Given the description of an element on the screen output the (x, y) to click on. 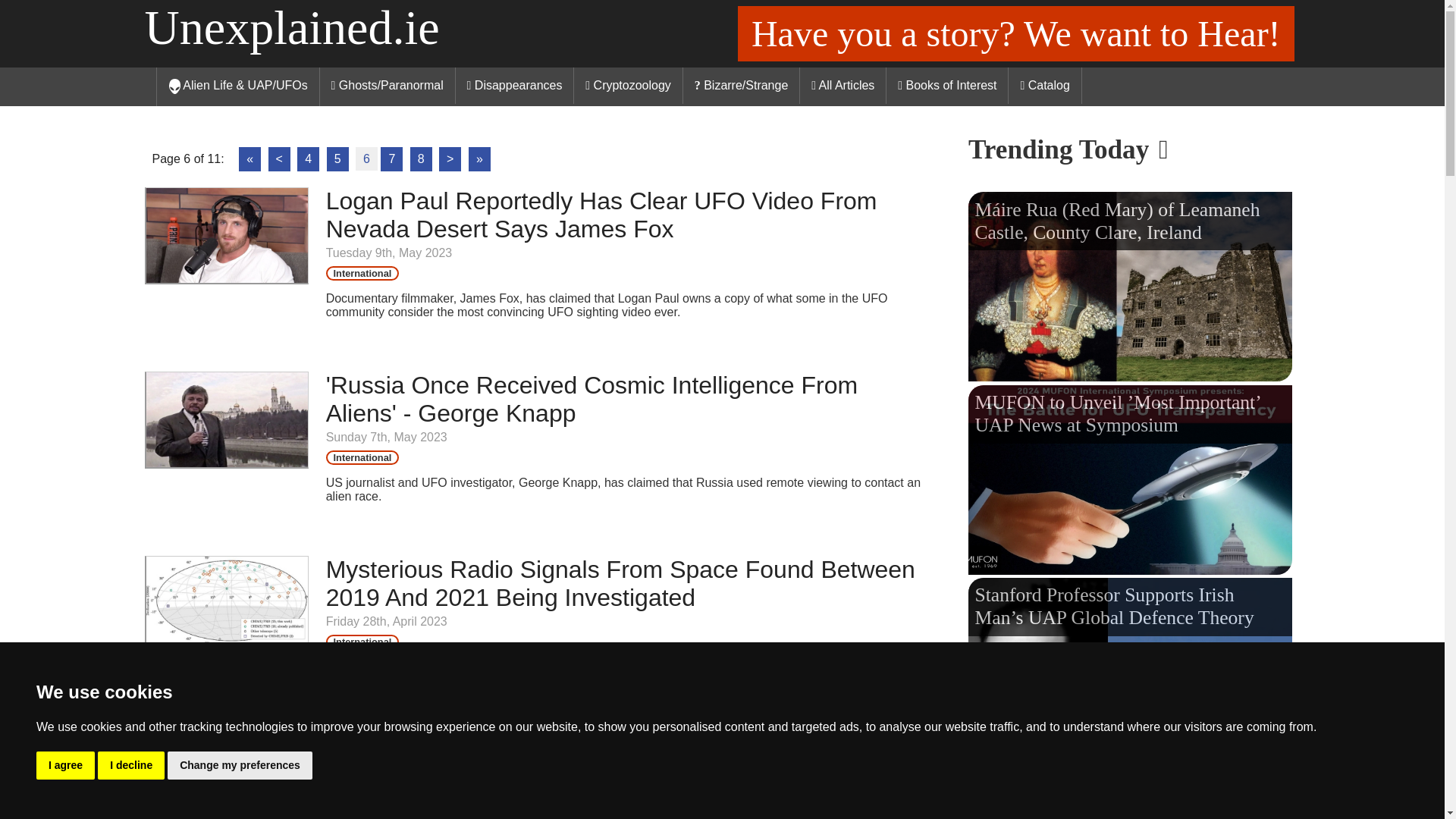
Catalog (1045, 85)
I agree (65, 765)
5 (337, 159)
8 (421, 159)
Change my preferences (240, 765)
Unexplained.ie (291, 27)
 Books of Interest (947, 85)
Britain's First UFO Tour To Be Launched At Rendlesham Forest (224, 775)
Britain's First UFO Tour To Be Launched At Rendlesham Forest (556, 768)
